Given the description of an element on the screen output the (x, y) to click on. 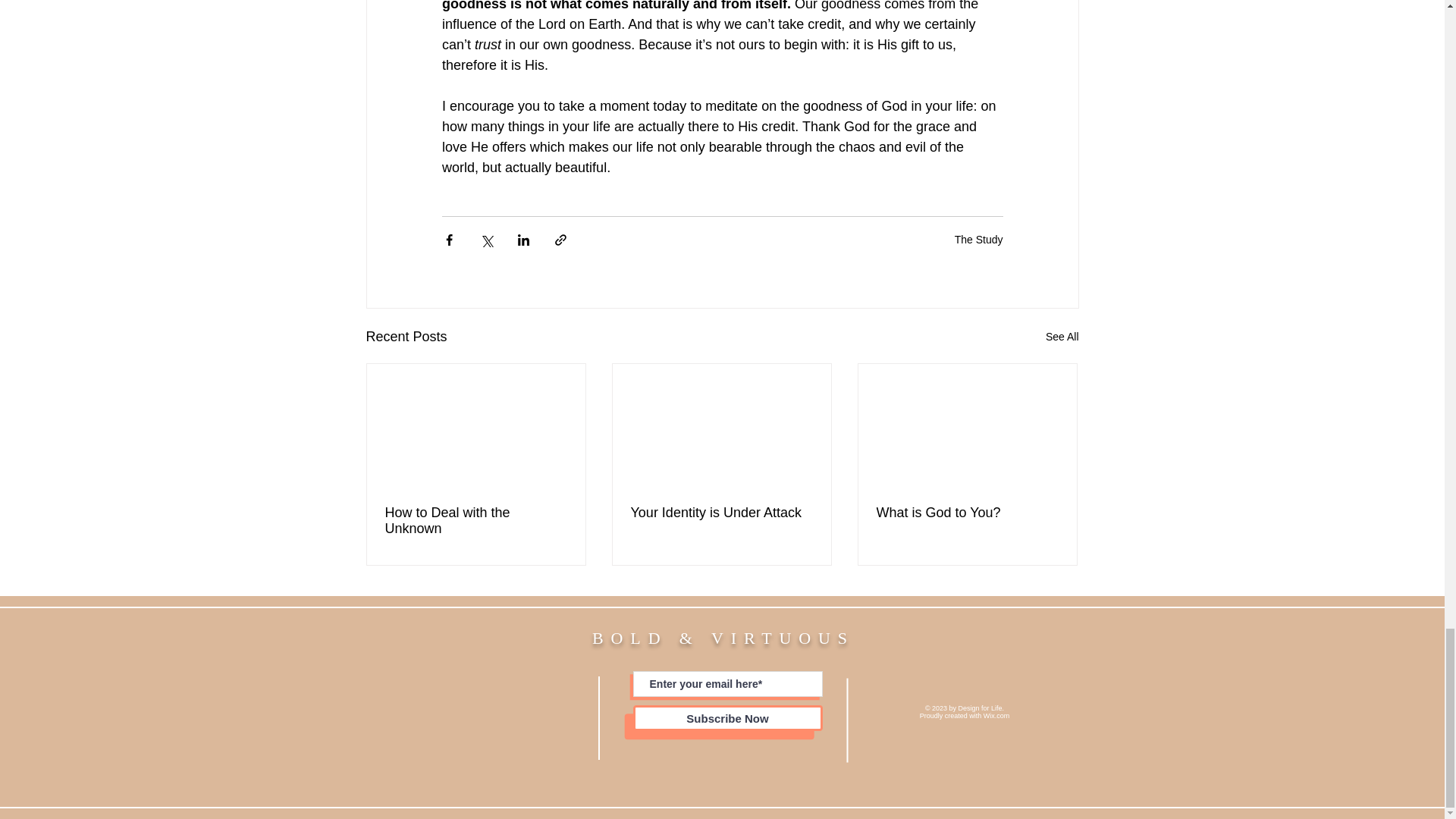
What is God to You? (967, 512)
Subscribe Now (726, 718)
See All (1061, 336)
The Study (979, 239)
How to Deal with the Unknown (476, 521)
Wix.com (997, 715)
Your Identity is Under Attack (721, 512)
